Given the description of an element on the screen output the (x, y) to click on. 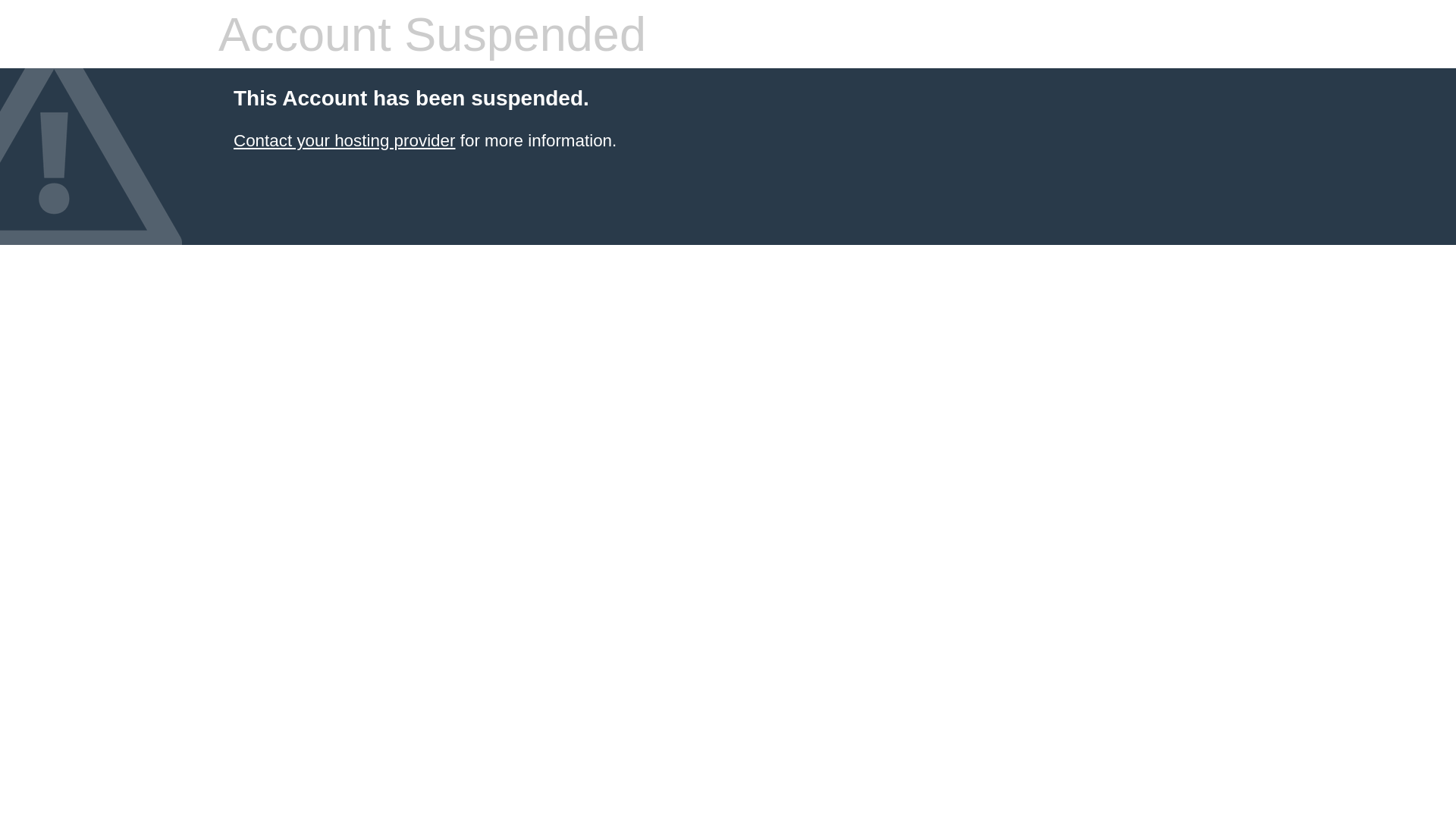
Contact your hosting provider Element type: text (344, 140)
